Given the description of an element on the screen output the (x, y) to click on. 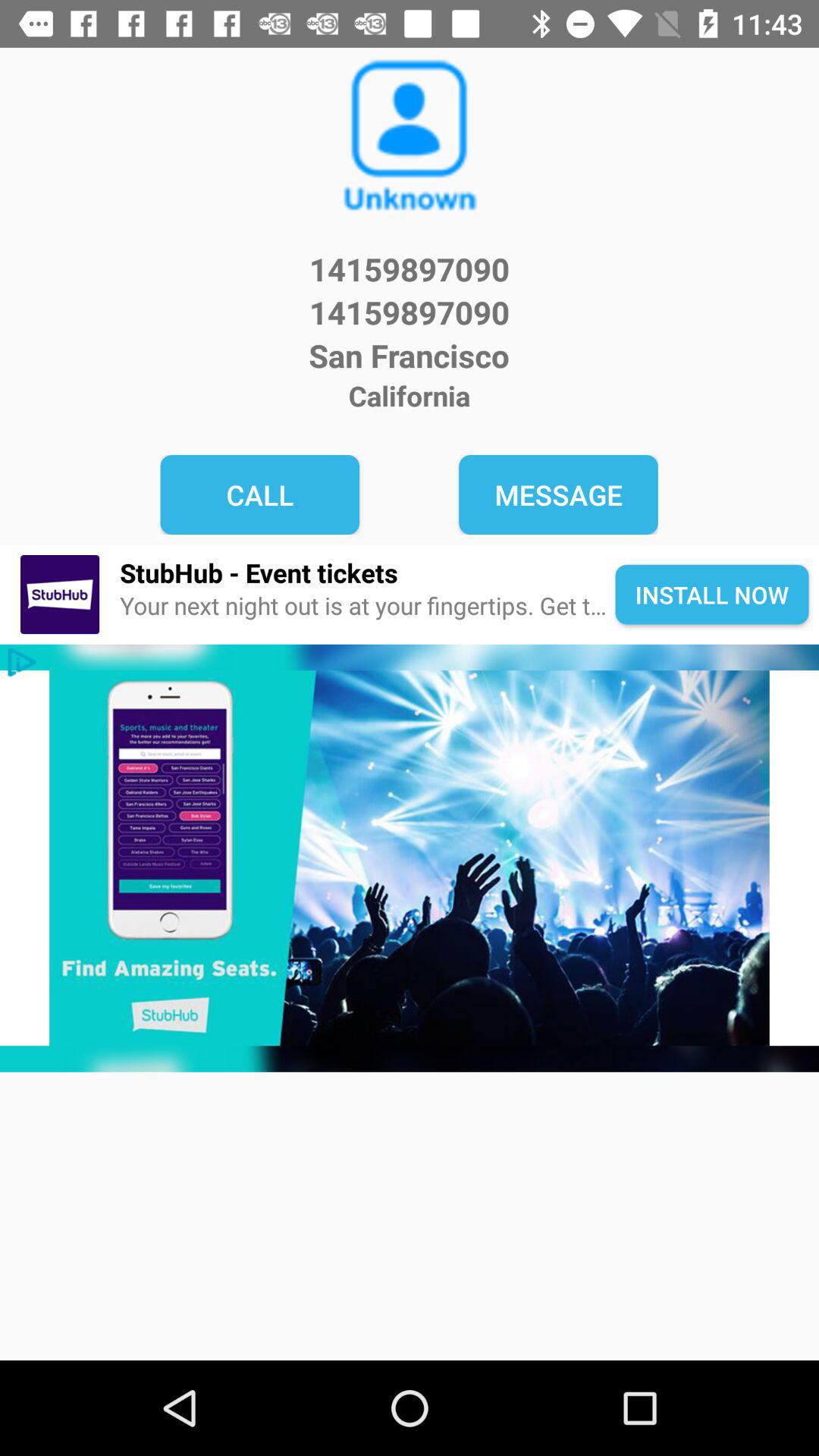
stubhub homepage (409, 857)
